Given the description of an element on the screen output the (x, y) to click on. 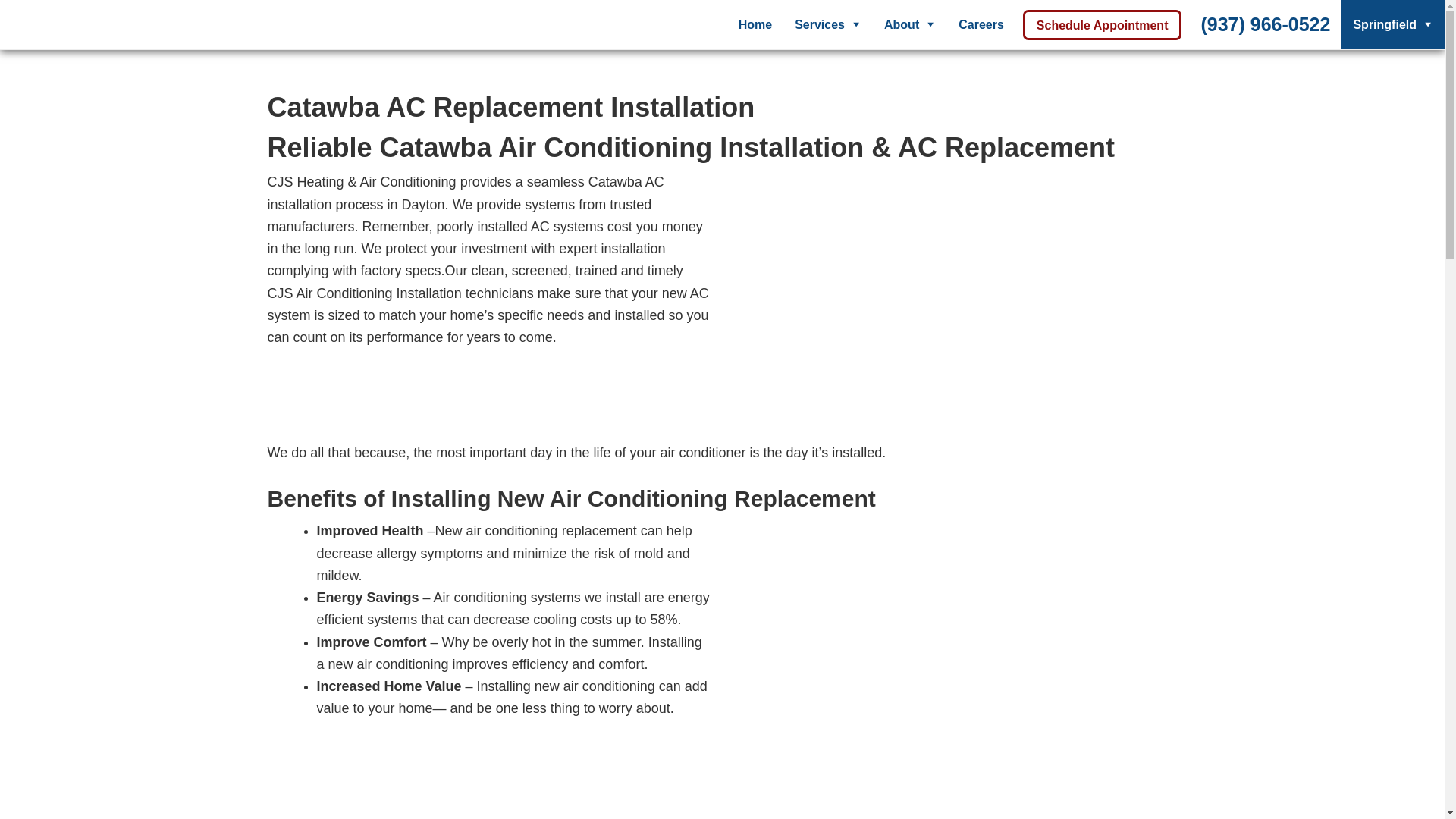
Home (754, 24)
Services (827, 24)
